Given the description of an element on the screen output the (x, y) to click on. 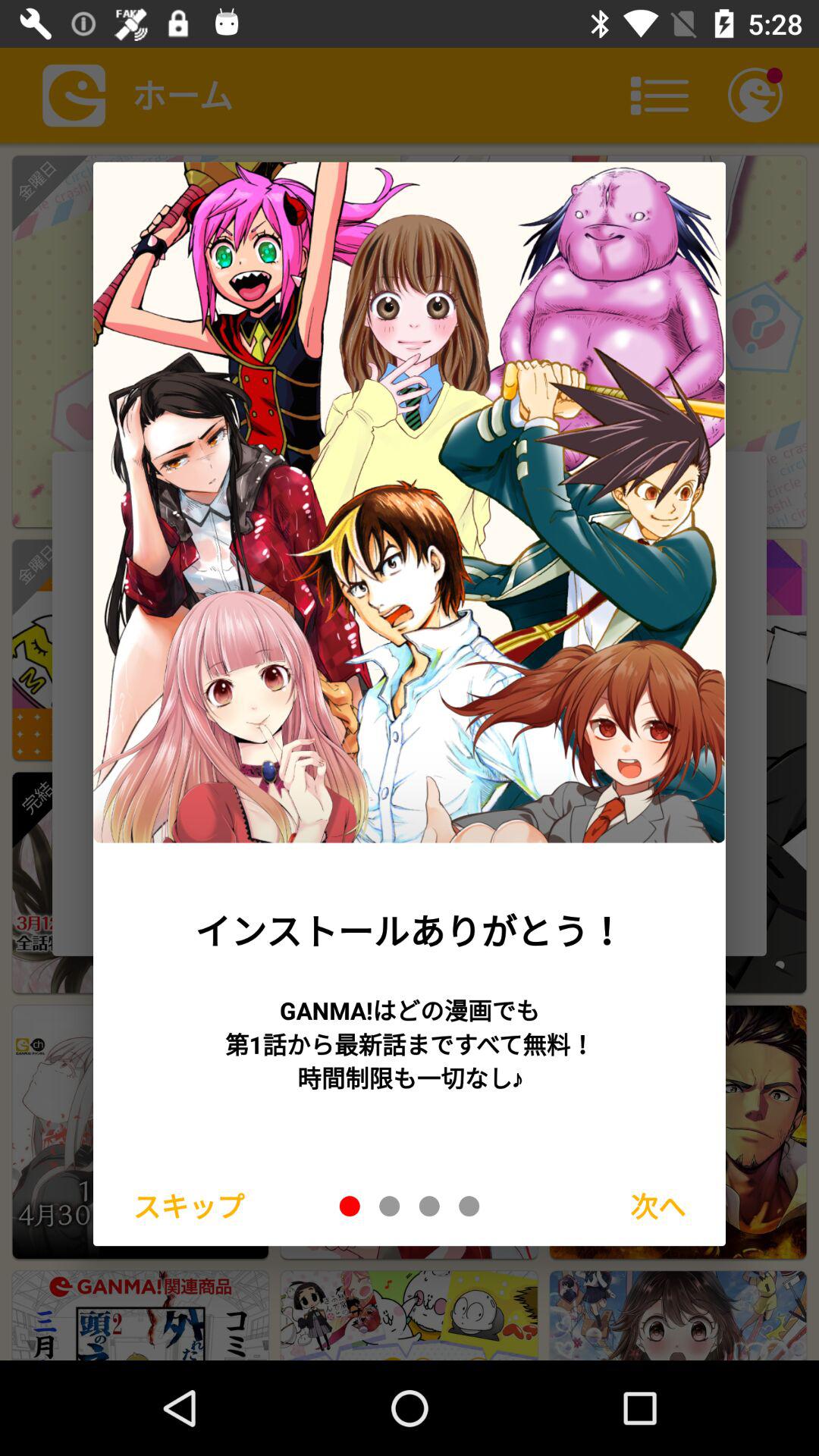
select page and open (429, 1206)
